Given the description of an element on the screen output the (x, y) to click on. 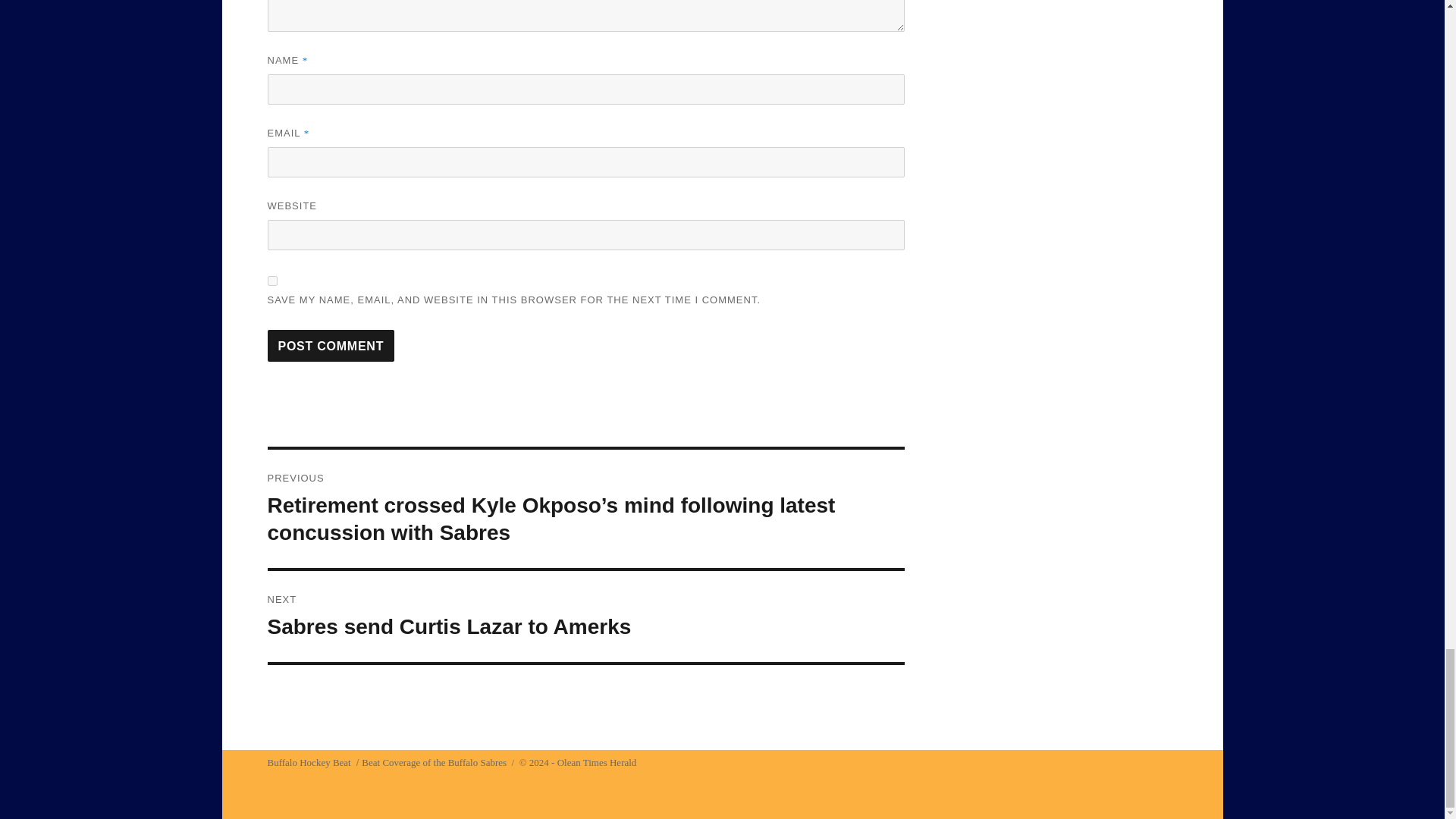
Post Comment (330, 345)
Post Comment (330, 345)
yes (271, 280)
Buffalo Hockey Beat (308, 762)
Olean Times Herald (585, 615)
